Given the description of an element on the screen output the (x, y) to click on. 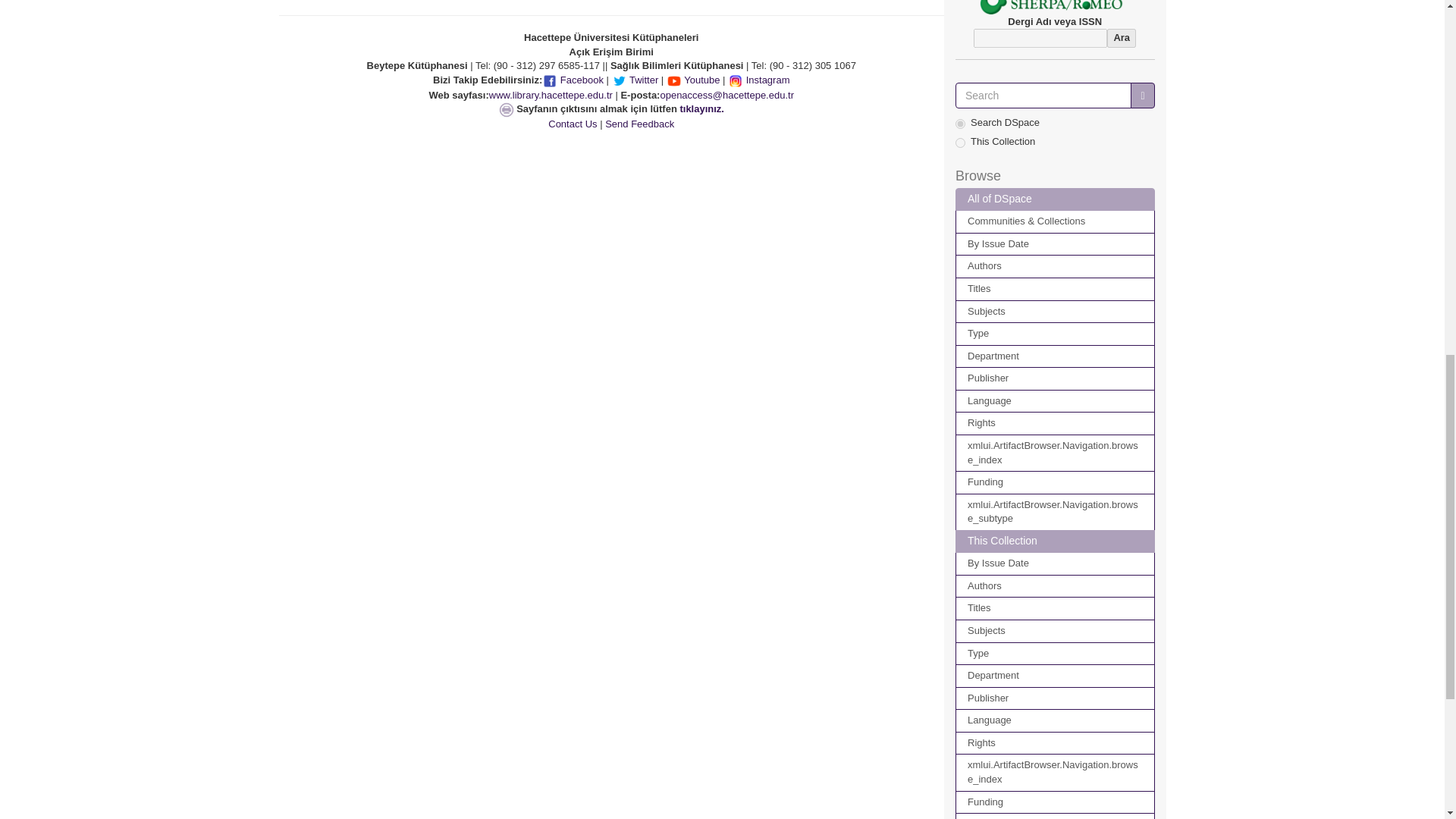
Contact Us (572, 123)
Ara (1120, 37)
Youtube (693, 79)
Send Feedback (639, 123)
Go (1142, 95)
www.library.hacettepe.edu.tr (550, 94)
Twitter (635, 79)
Instagram (758, 79)
Facebook (572, 79)
